Given the description of an element on the screen output the (x, y) to click on. 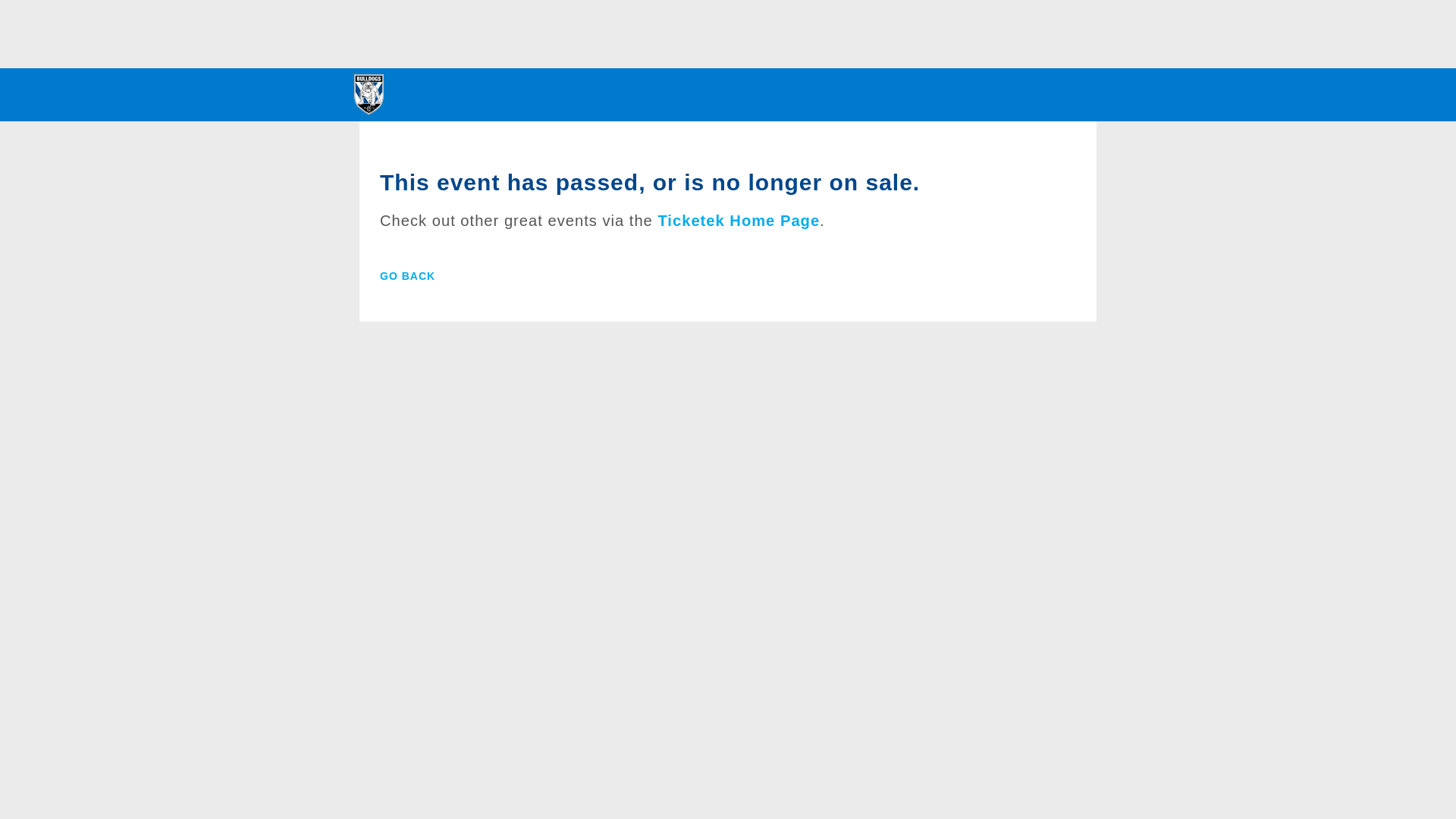
GO BACK Element type: text (407, 275)
Ticketek Home Page Element type: text (738, 220)
